Given the description of an element on the screen output the (x, y) to click on. 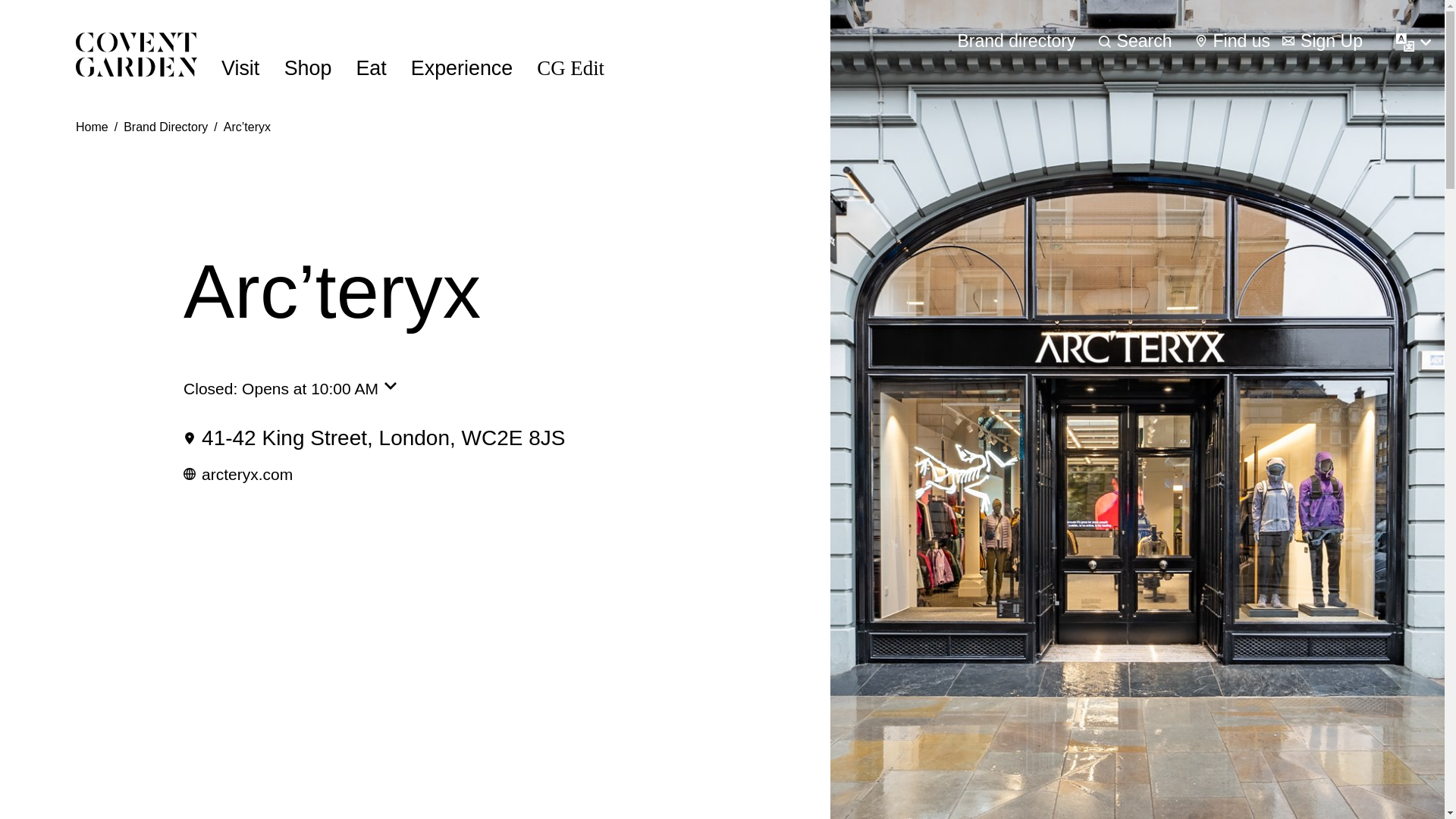
Find us (1233, 40)
Eat (370, 68)
Experience (461, 68)
Sign Up (1322, 40)
CG Edit (570, 68)
Brand directory (1015, 40)
Visit (240, 68)
Search (1135, 41)
Shop (307, 68)
